Given the description of an element on the screen output the (x, y) to click on. 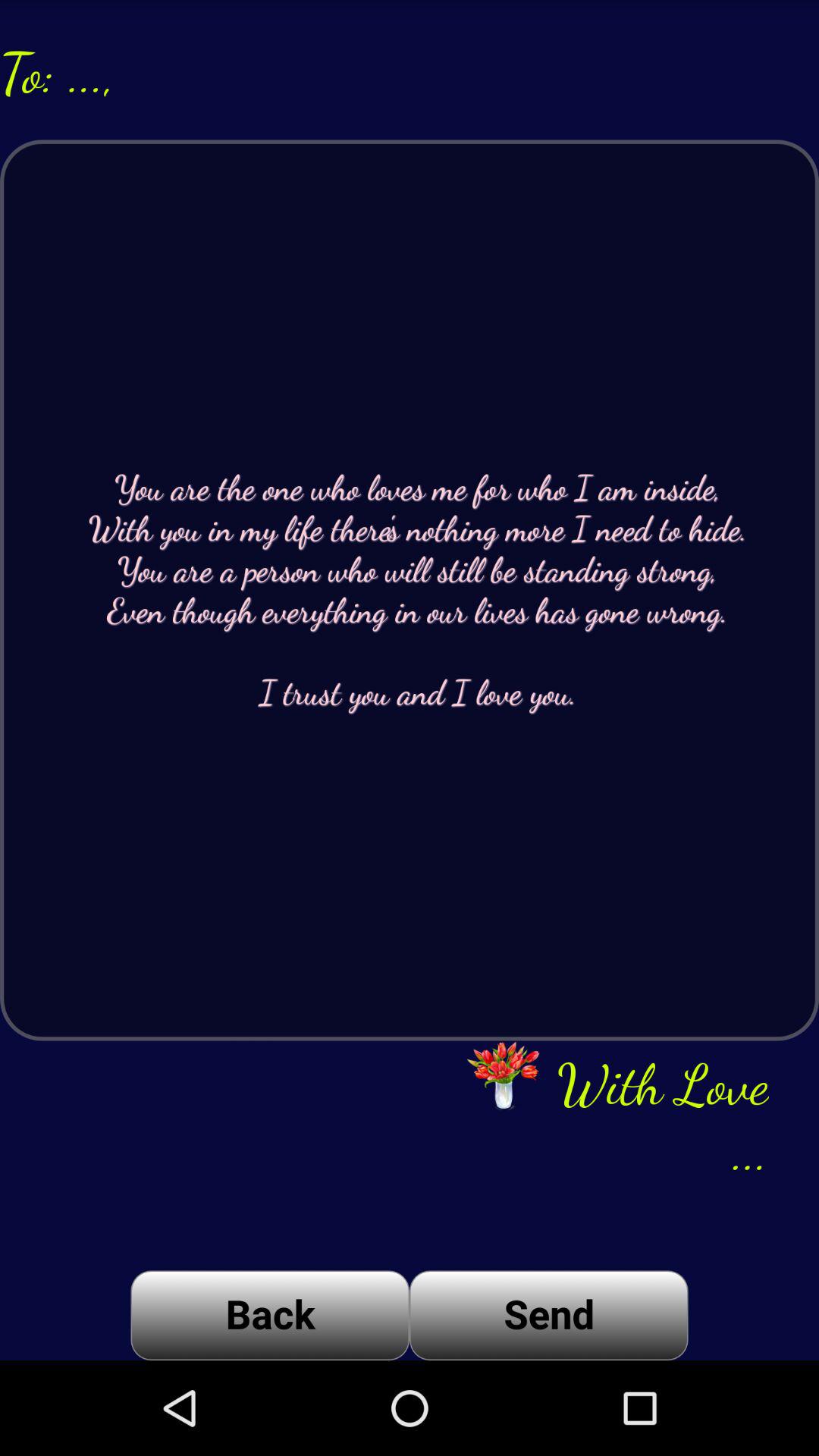
choose item next to the send item (269, 1315)
